Given the description of an element on the screen output the (x, y) to click on. 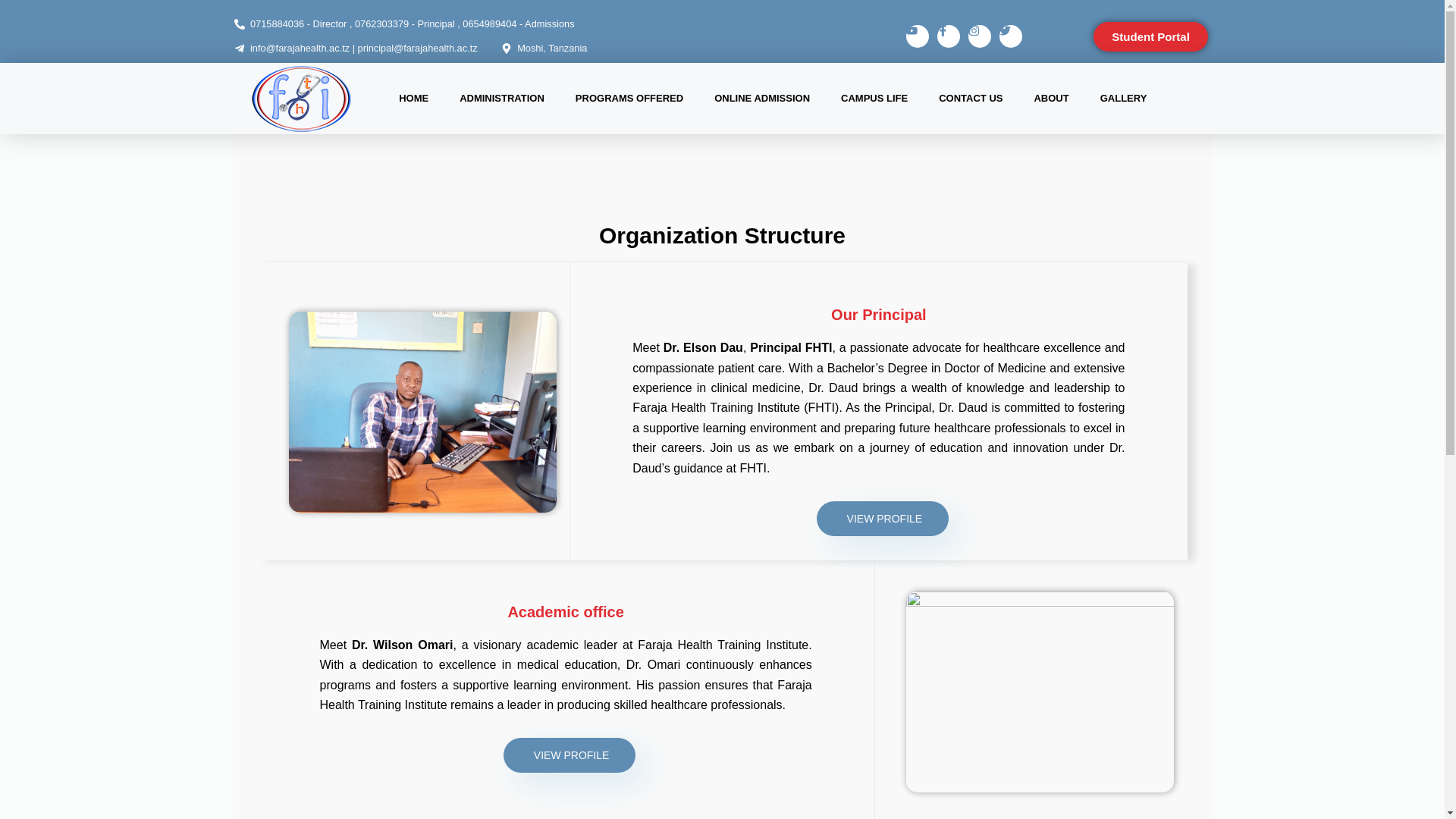
ABOUT (1050, 97)
ADMINISTRATION (501, 97)
ONLINE ADMISSION (761, 97)
CAMPUS LIFE (874, 97)
GALLERY (1122, 97)
HOME (414, 97)
PROGRAMS OFFERED (629, 97)
Skip to content (15, 7)
CONTACT US (970, 97)
Student Portal (1150, 35)
